Given the description of an element on the screen output the (x, y) to click on. 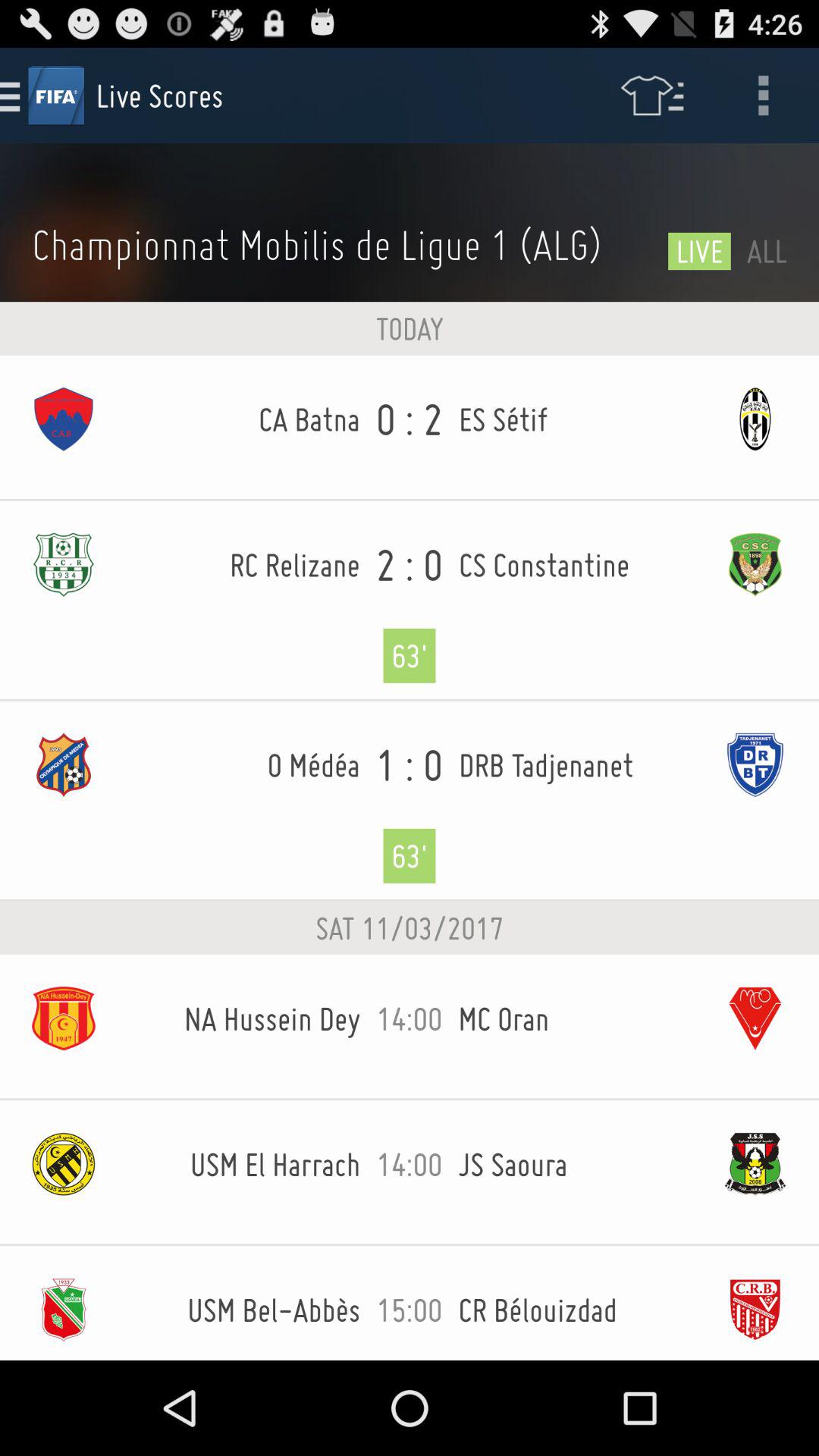
press the icon above all icon (763, 95)
